Given the description of an element on the screen output the (x, y) to click on. 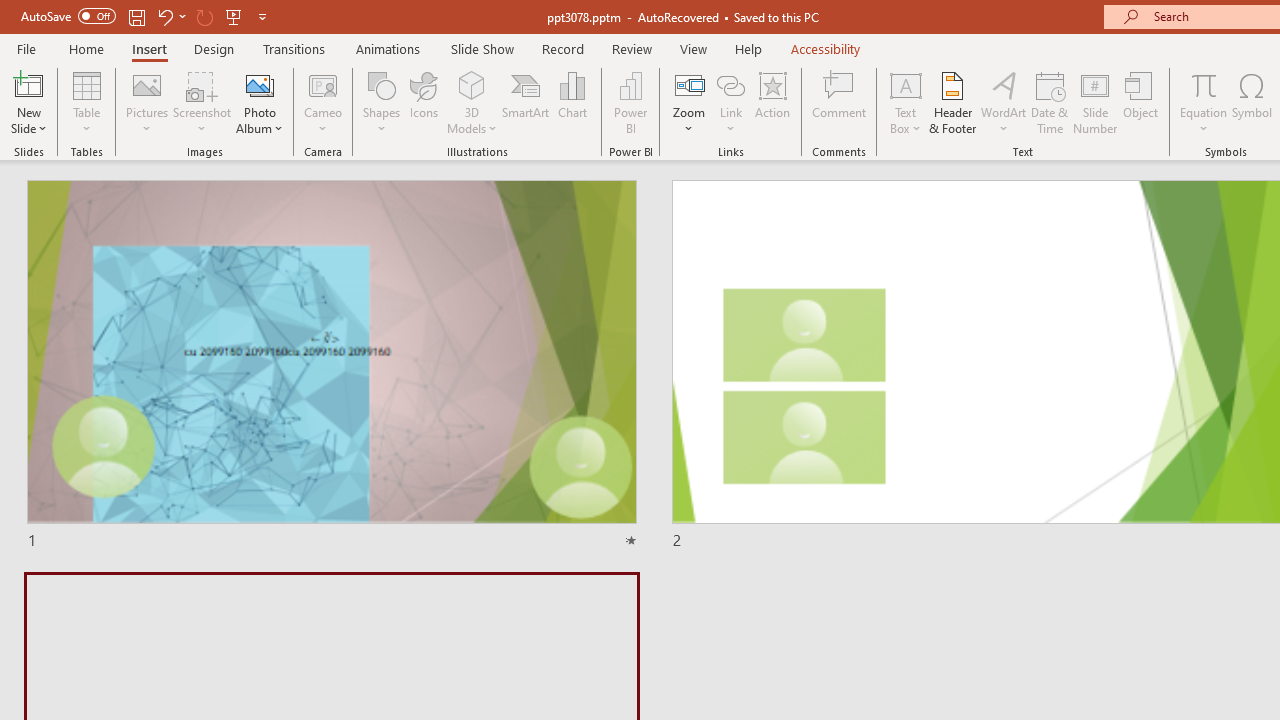
Screenshot (202, 102)
Draw Horizontal Text Box (905, 84)
Action (772, 102)
Icons (424, 102)
3D Models (472, 102)
SmartArt... (525, 102)
Symbol... (1252, 102)
